Given the description of an element on the screen output the (x, y) to click on. 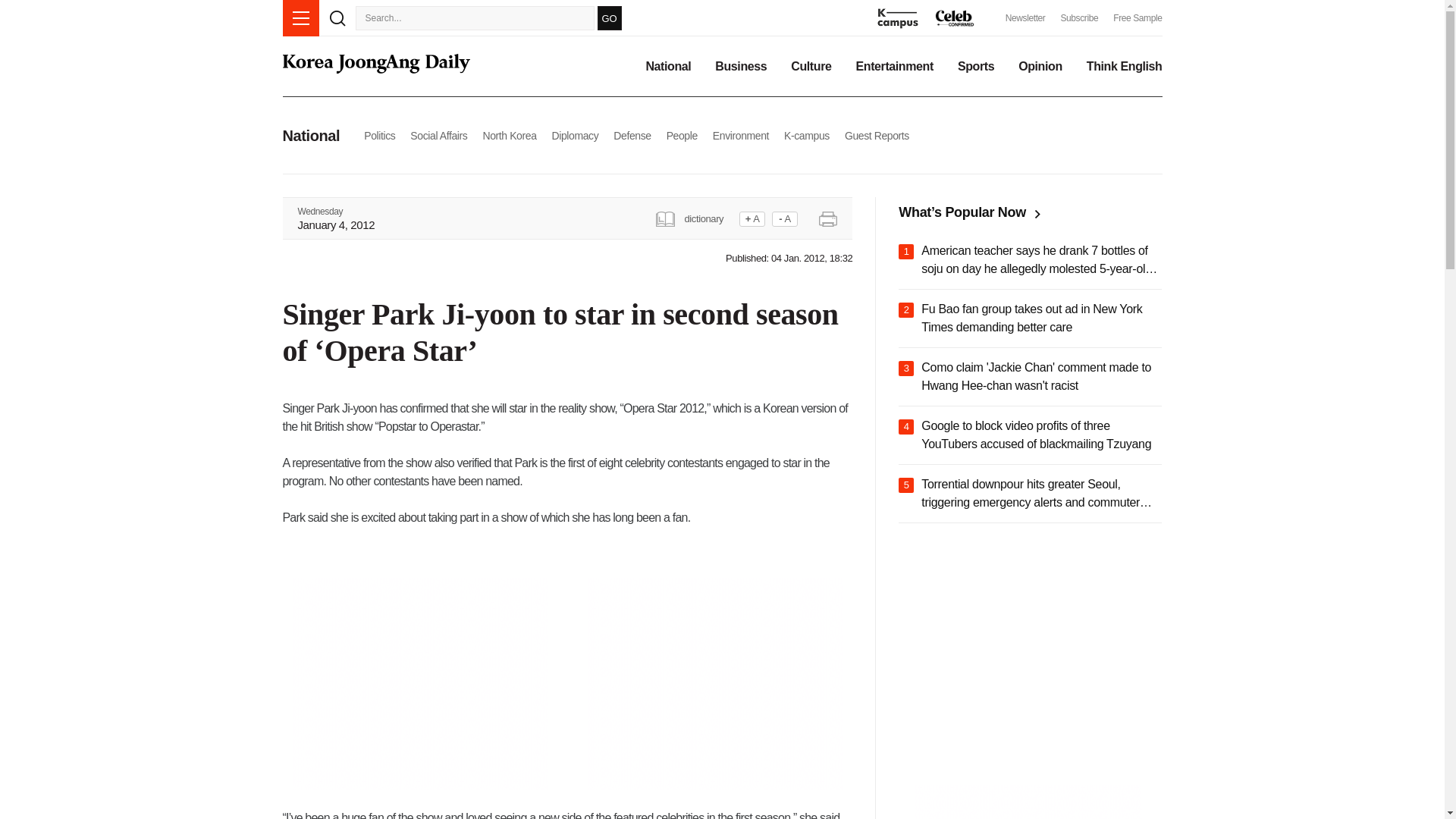
Newsletter (1025, 18)
Subscribe (1078, 18)
Diplomacy (574, 135)
K-campus (806, 135)
Defense (631, 135)
Guest Reports (876, 135)
Business (740, 66)
Sports (976, 66)
National (667, 66)
North Korea (508, 135)
North Korea (508, 135)
Social Affairs (438, 135)
Defense (631, 135)
K-campus (806, 135)
People (681, 135)
